Given the description of an element on the screen output the (x, y) to click on. 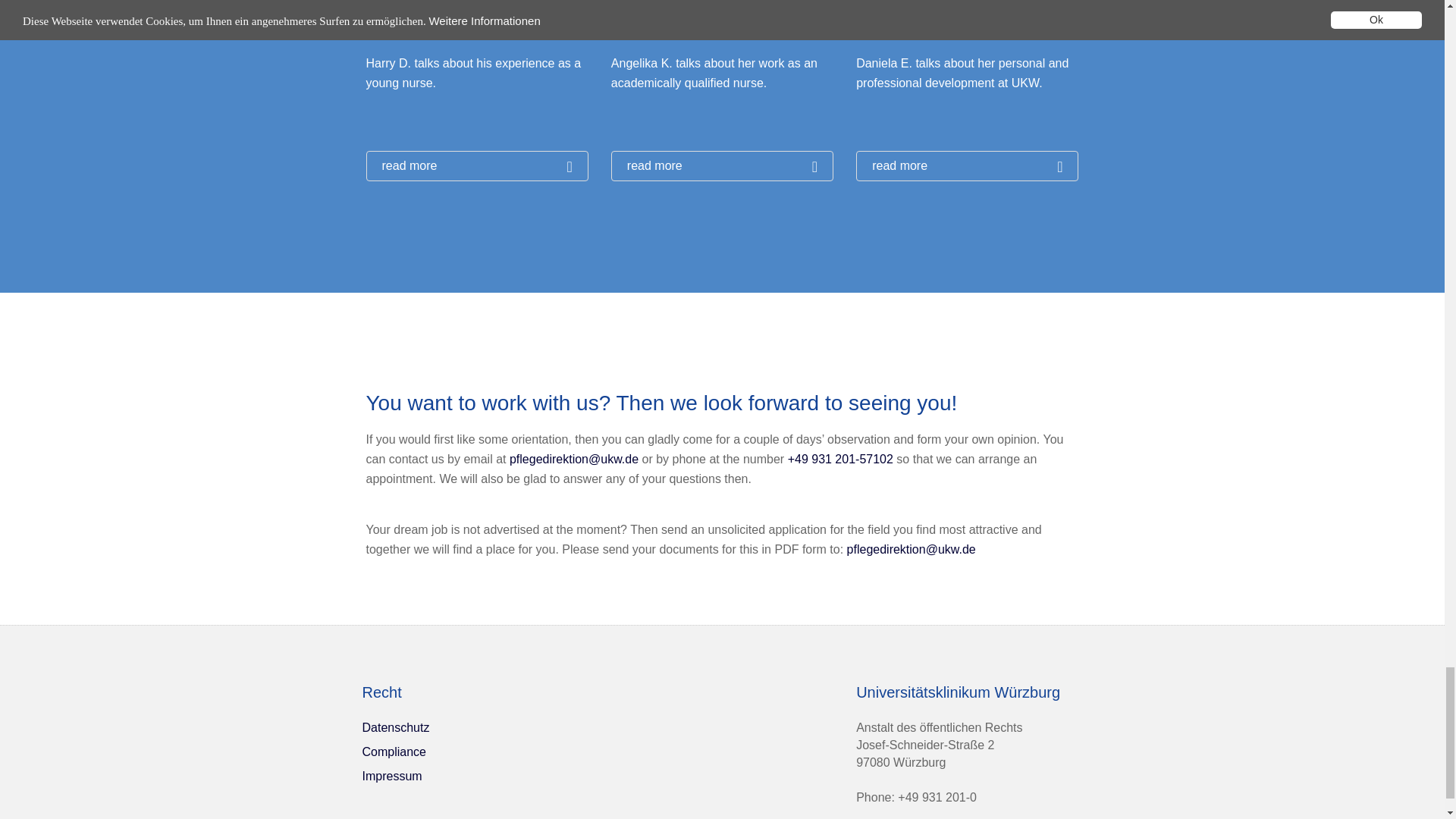
Datenschutz (395, 727)
Interview with Angelika K. (721, 165)
Interview with Daniela E. (967, 165)
Interview with Harry D. (476, 165)
